Given the description of an element on the screen output the (x, y) to click on. 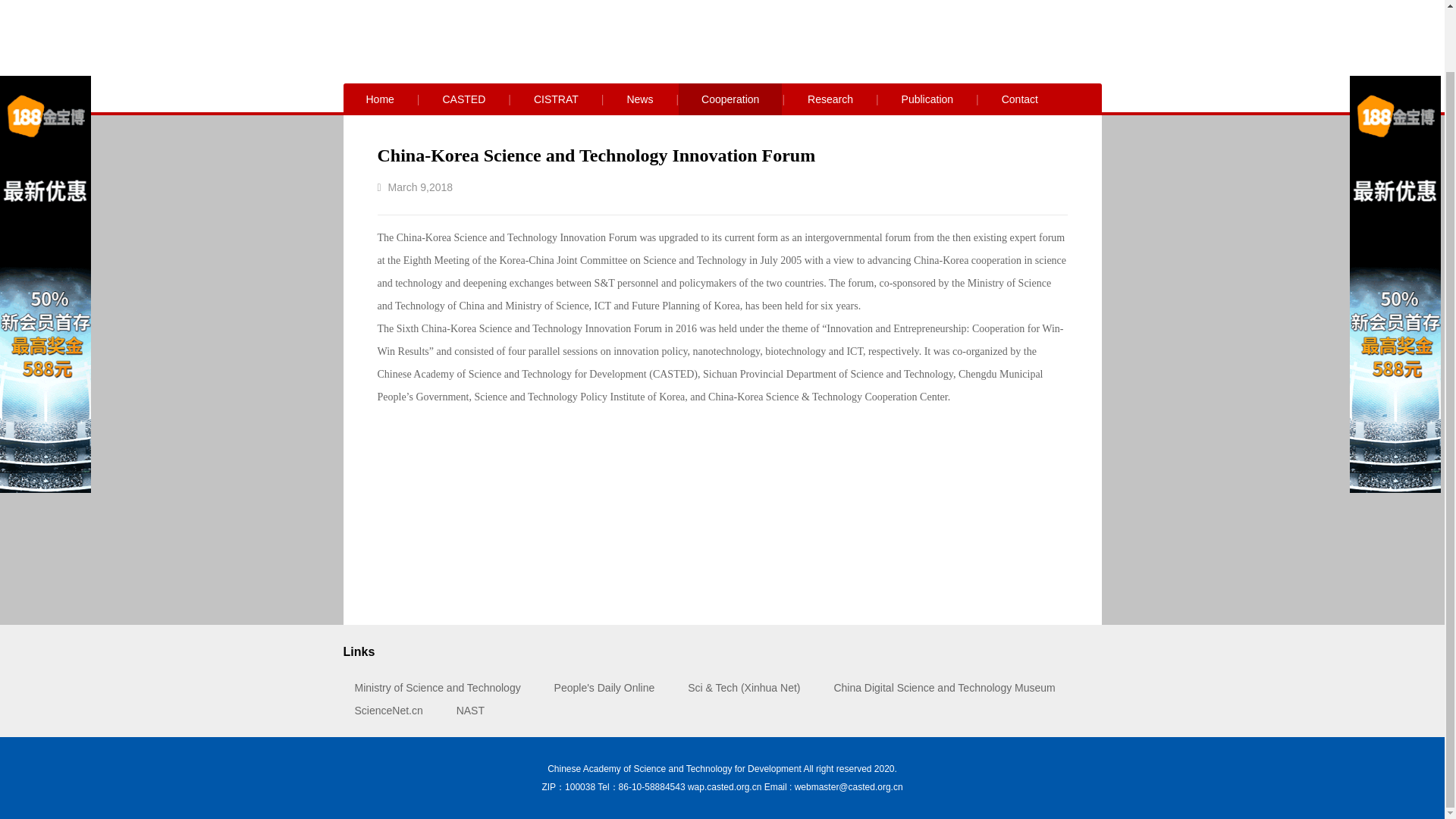
China Digital Science and Technology Museum (943, 687)
Cooperation (729, 99)
Contact (1019, 99)
Ministry of Science and Technology (438, 687)
ScienceNet.cn (389, 710)
Research (830, 99)
People's Daily Online (604, 687)
Publication (927, 99)
CASTED (464, 99)
NAST (470, 710)
